Given the description of an element on the screen output the (x, y) to click on. 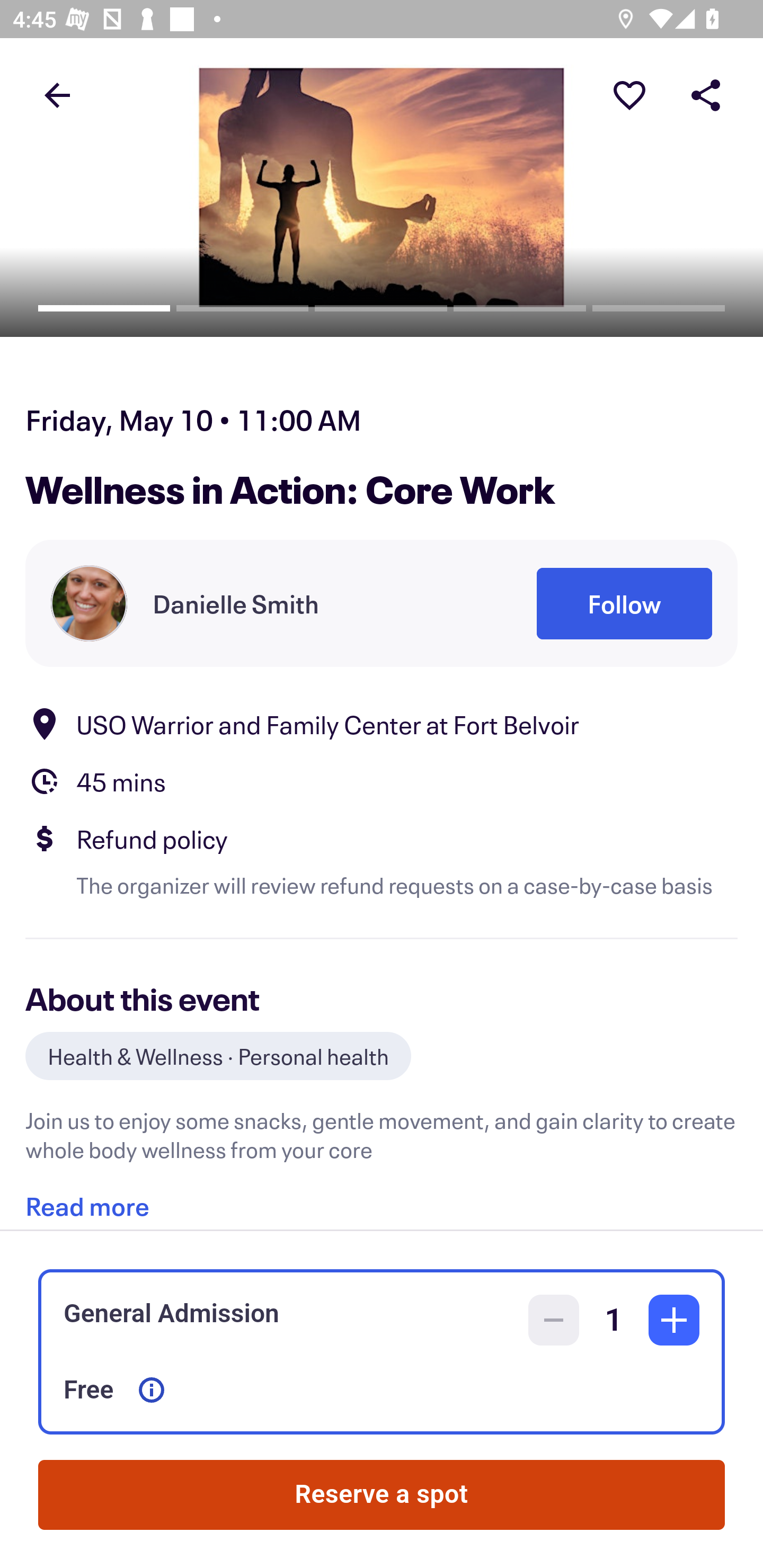
Back (57, 94)
More (629, 94)
Share (705, 94)
Organizer profile picture (89, 602)
Danielle Smith (235, 603)
Follow (623, 603)
Read more (87, 1199)
